Given the description of an element on the screen output the (x, y) to click on. 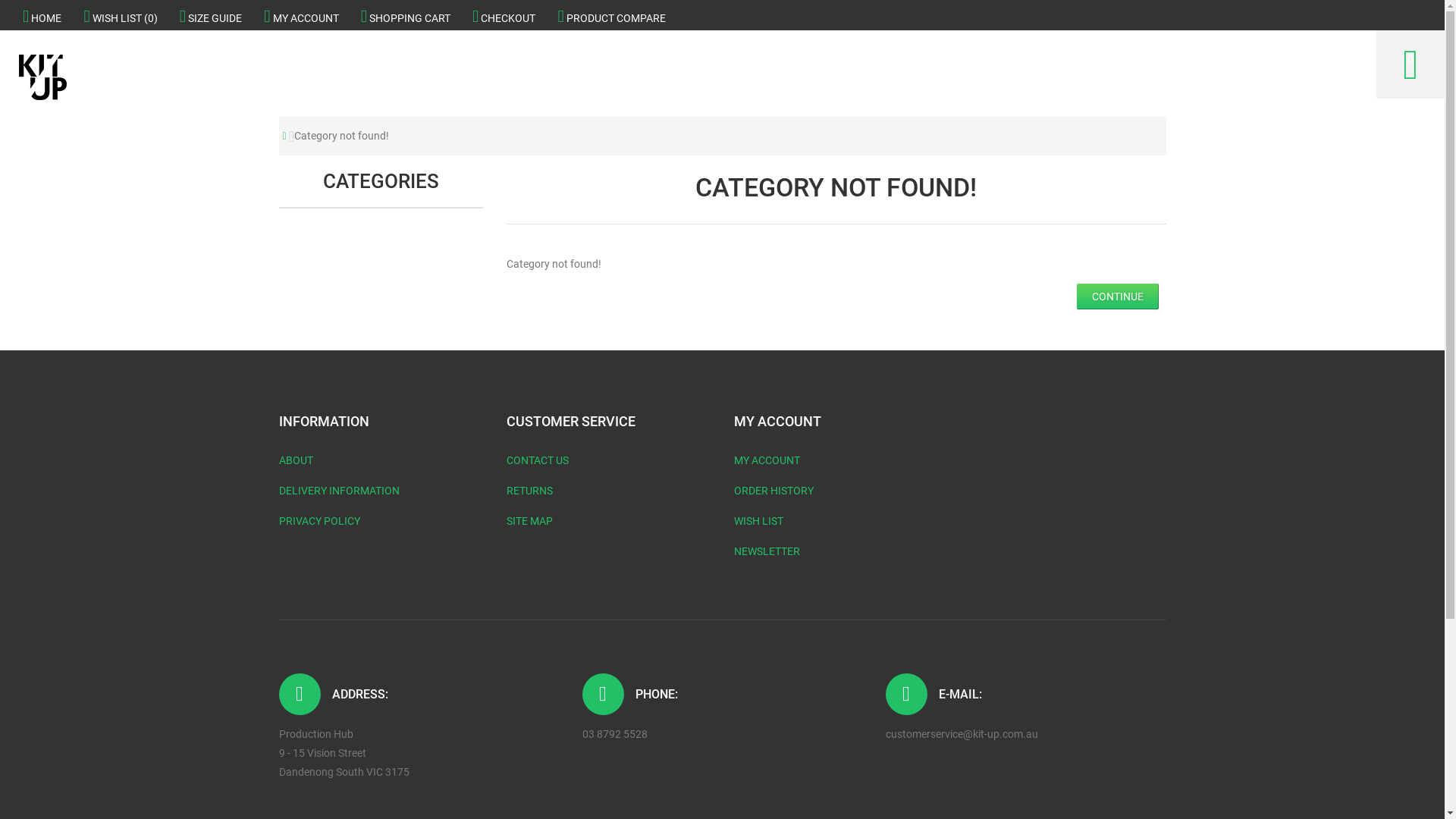
ABOUT Element type: text (296, 460)
MY ACCOUNT Element type: text (767, 460)
ORDER HISTORY Element type: text (773, 490)
03 8792 5528 Element type: text (614, 733)
0 Element type: text (1410, 64)
CONTACT US Element type: text (537, 460)
CONTINUE Element type: text (1117, 296)
CHECKOUT Element type: text (503, 15)
SITE MAP Element type: text (529, 520)
DELIVERY INFORMATION Element type: text (339, 490)
RETURNS Element type: text (529, 490)
WISH LIST (0) Element type: text (120, 15)
SIZE GUIDE Element type: text (210, 15)
SHOPPING CART Element type: text (405, 15)
WISH LIST Element type: text (758, 520)
NEWSLETTER Element type: text (767, 551)
MY ACCOUNT Element type: text (300, 15)
customerservice@kit-up.com.au Element type: text (961, 733)
Kit-Up Element type: hover (42, 77)
HOME Element type: text (41, 15)
PRIVACY POLICY Element type: text (319, 520)
PRODUCT COMPARE Element type: text (611, 15)
